Given the description of an element on the screen output the (x, y) to click on. 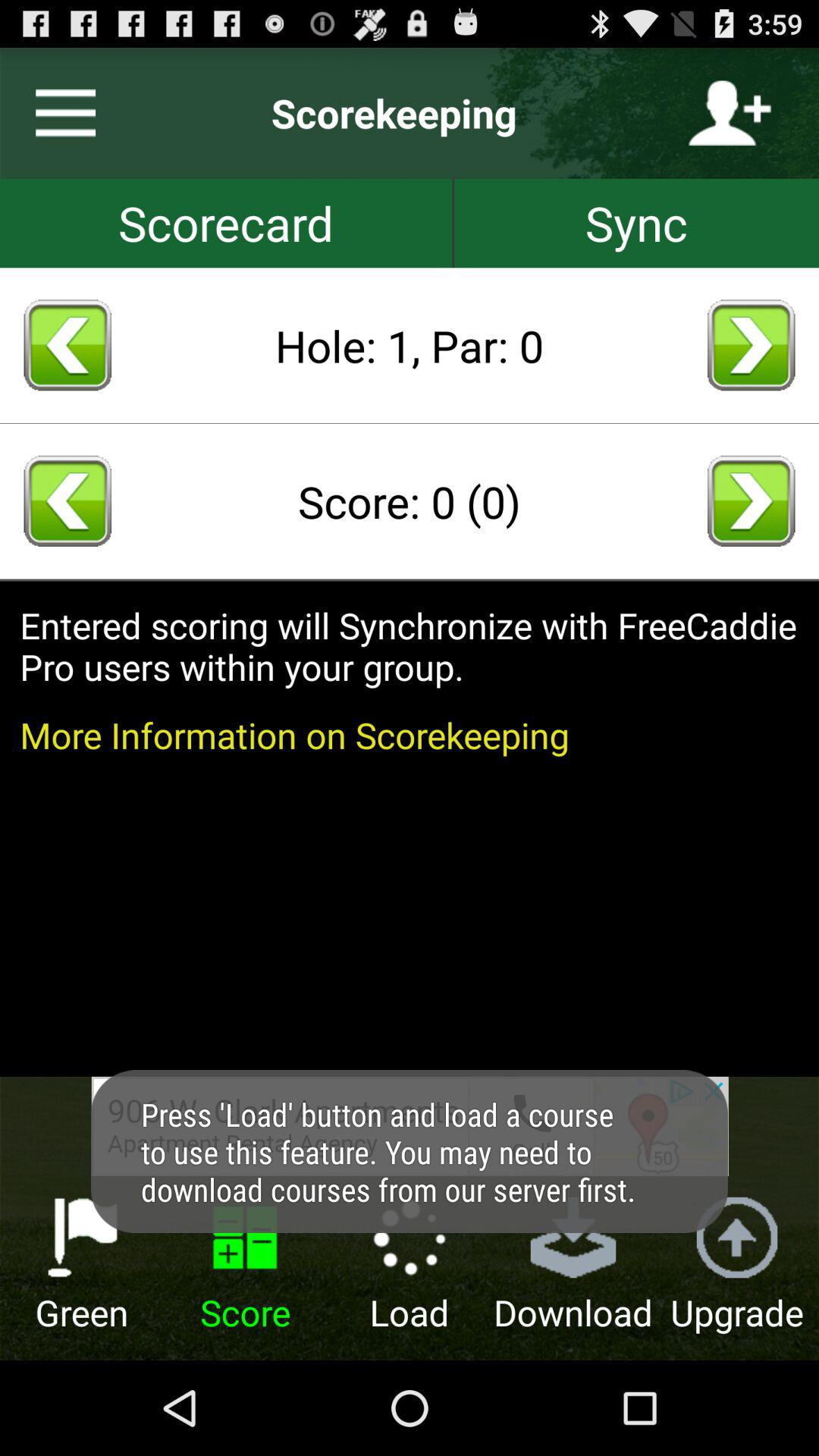
go to previous (67, 500)
